Given the description of an element on the screen output the (x, y) to click on. 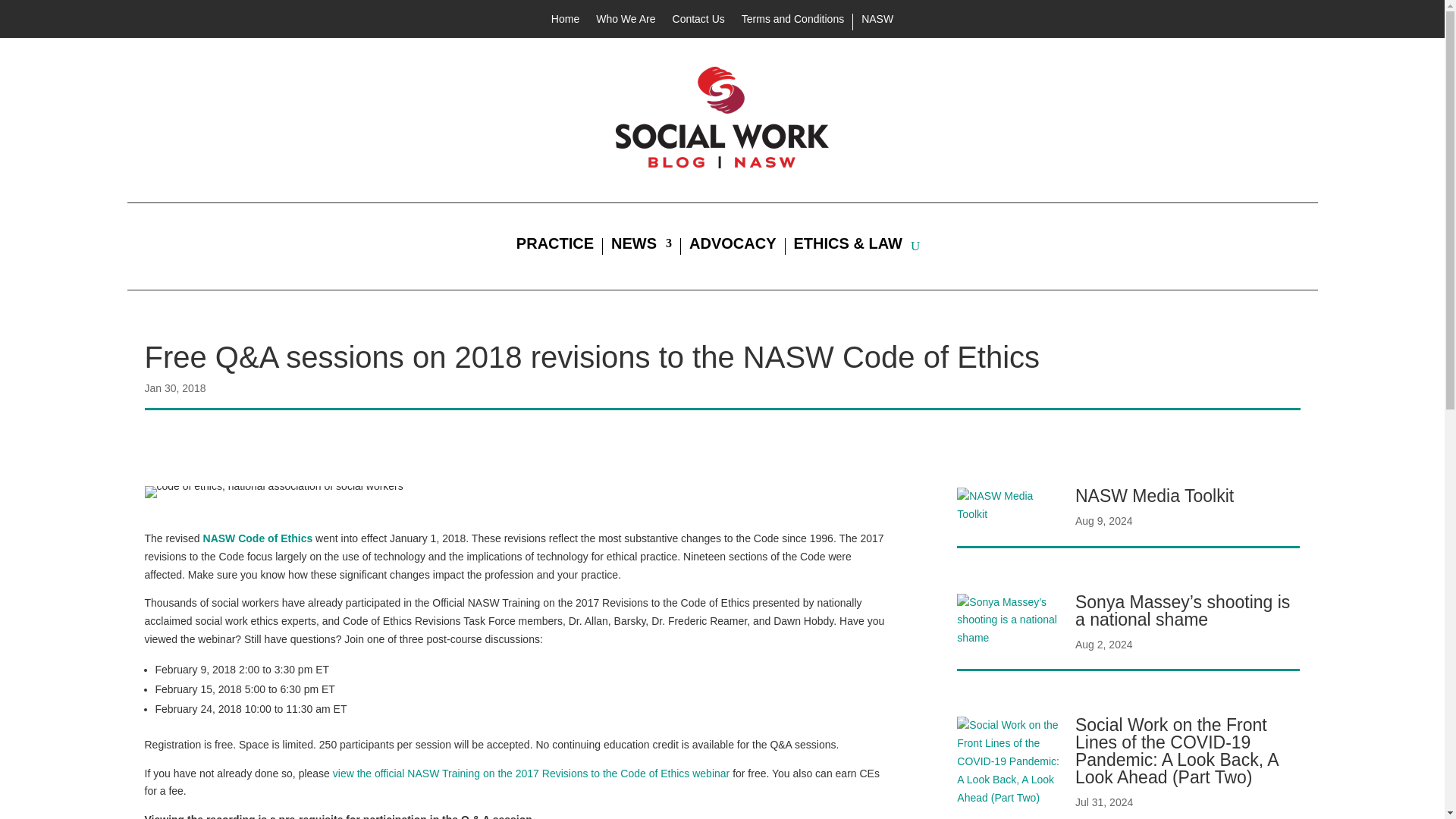
Terms and Conditions (792, 21)
NEWS (641, 246)
ADVOCACY (732, 246)
NASW Code of Ethics (258, 538)
PRACTICE (555, 246)
NASW (877, 21)
Contact Us (698, 21)
NASW Media Toolkit (1154, 496)
Home (565, 21)
